Given the description of an element on the screen output the (x, y) to click on. 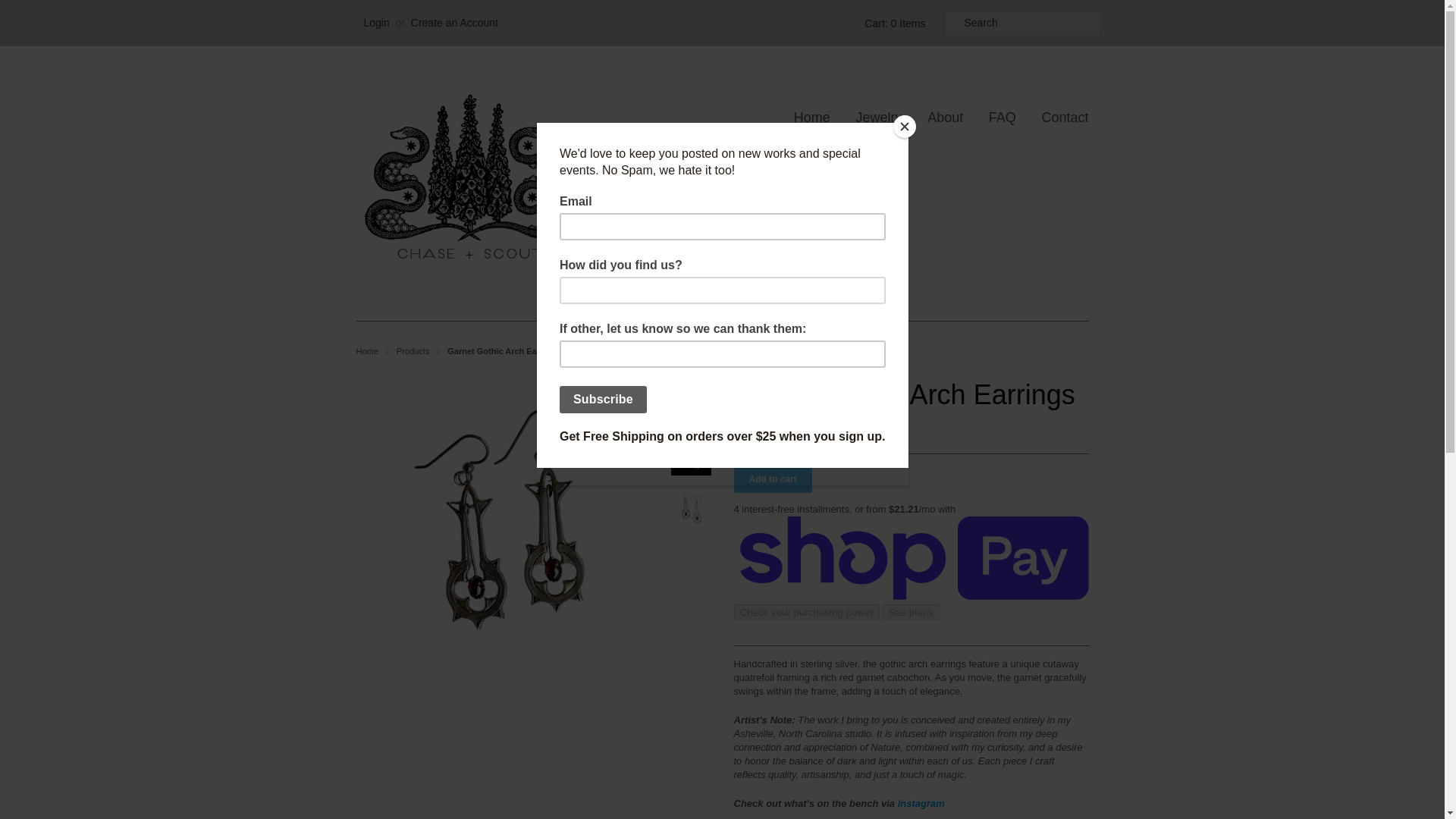
Products (413, 350)
Chase and Scout Jewelry Instagram (921, 803)
Login (377, 22)
Contact (1052, 117)
All Products (413, 350)
Jewelry (866, 117)
Create an Account (453, 22)
Home (811, 117)
Cart (892, 23)
Cart: 0 Items (892, 23)
Add to cart (772, 479)
Instagram (921, 803)
Add to cart (772, 479)
About (933, 117)
FAQ (991, 117)
